Given the description of an element on the screen output the (x, y) to click on. 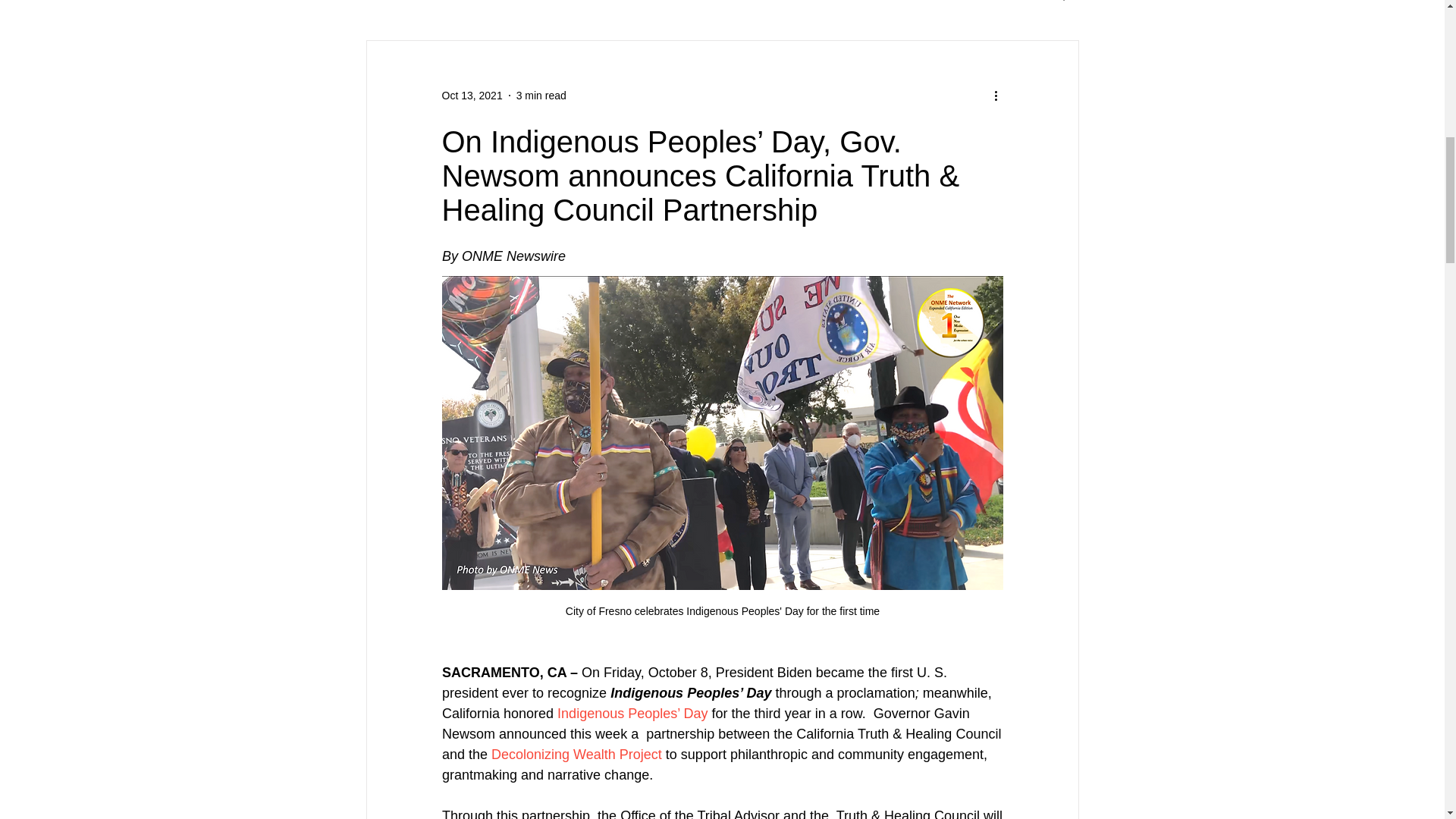
All Posts (384, 0)
News Briefs (621, 0)
Podcast (547, 0)
Bay Area News (709, 0)
3 min read (541, 95)
Central Valley News (814, 0)
Oct 13, 2021 (471, 95)
California News (466, 0)
Southern California News (940, 0)
